Given the description of an element on the screen output the (x, y) to click on. 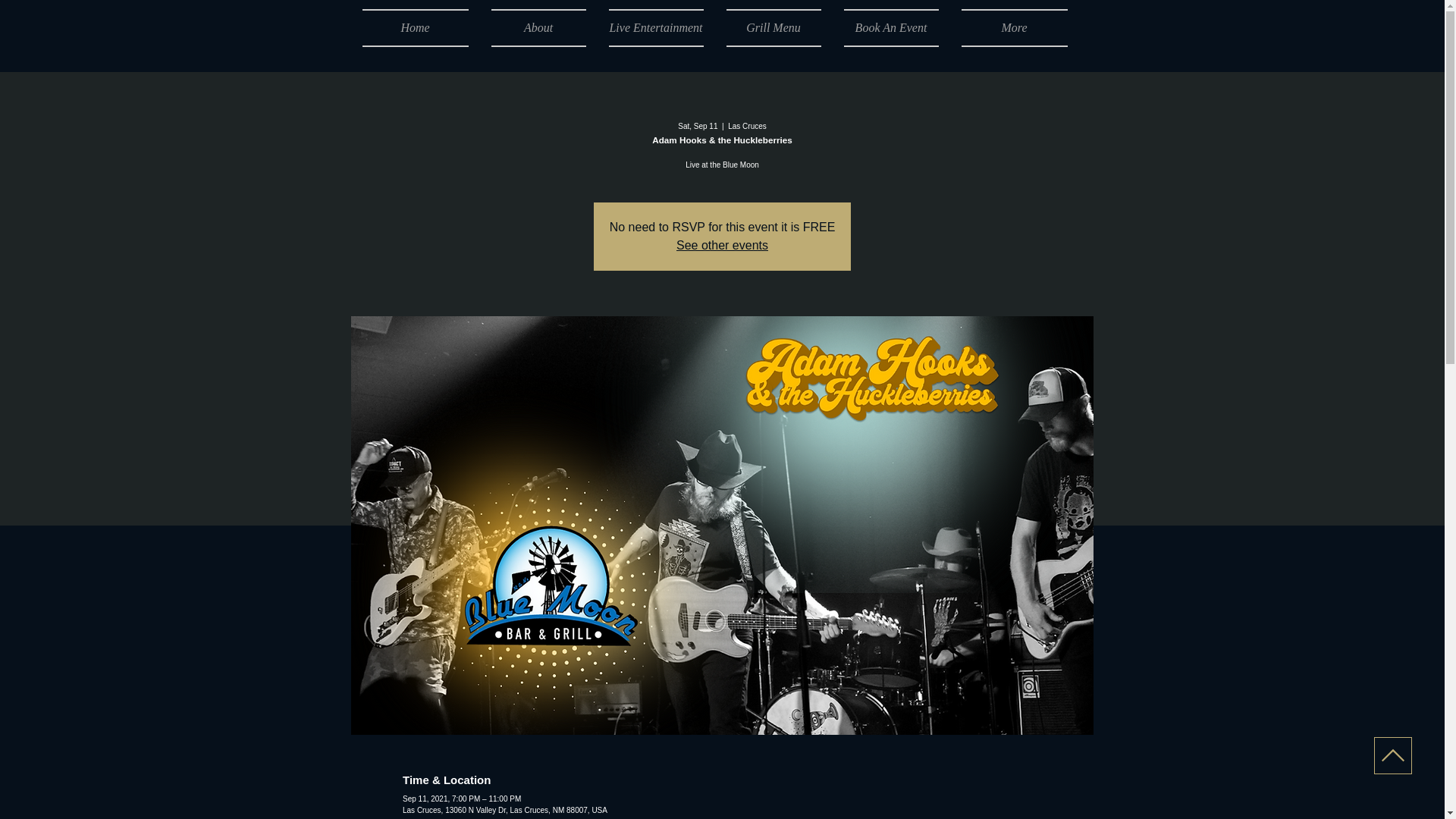
Home (421, 27)
See other events (722, 245)
About (537, 27)
Book An Event (891, 27)
Grill Menu (772, 27)
Live Entertainment (655, 27)
